Given the description of an element on the screen output the (x, y) to click on. 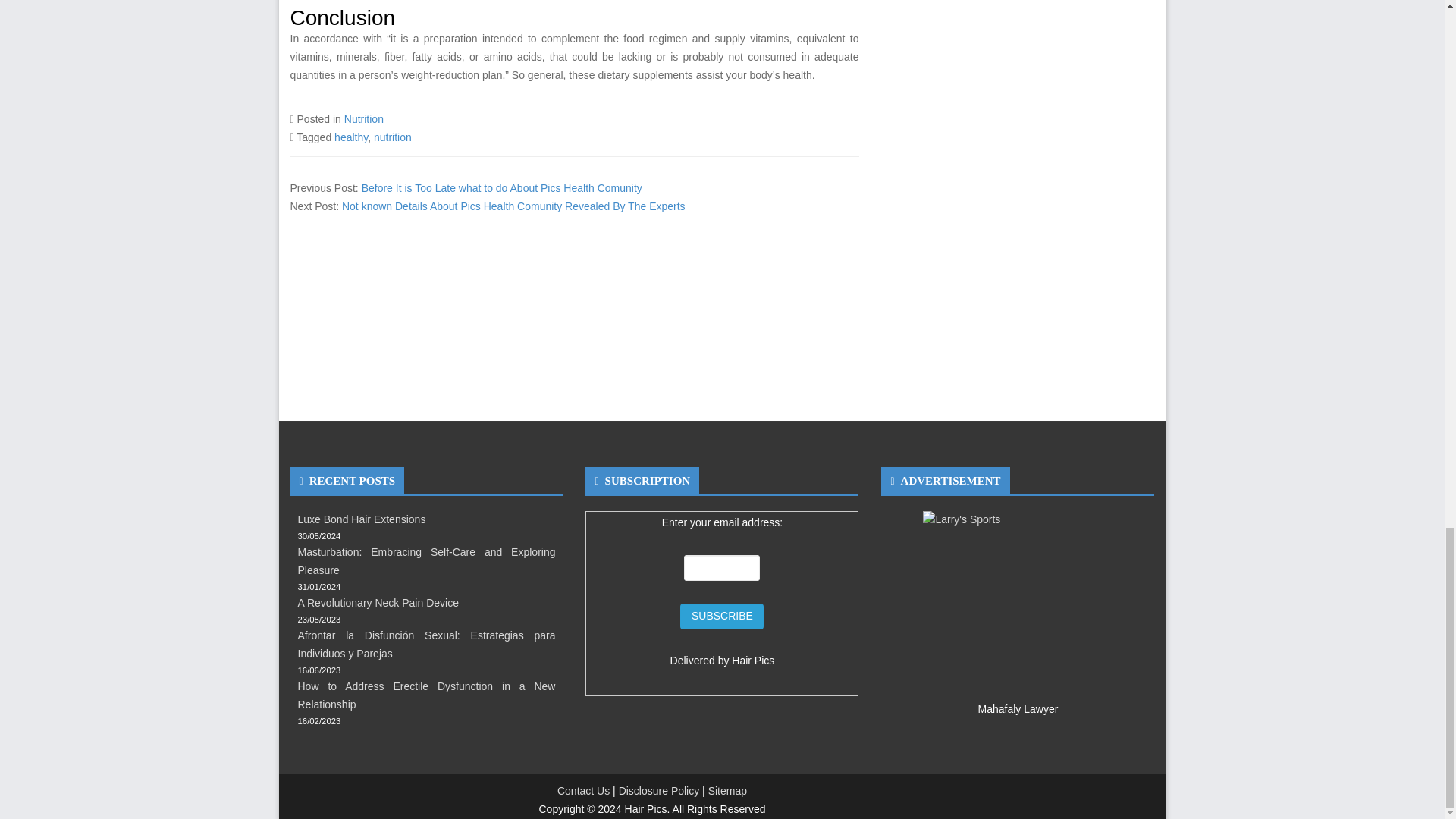
healthy (351, 137)
Subscribe (720, 616)
Before It is Too Late what to do About Pics Health Comunity (501, 187)
Nutrition (363, 119)
nutrition (393, 137)
